Given the description of an element on the screen output the (x, y) to click on. 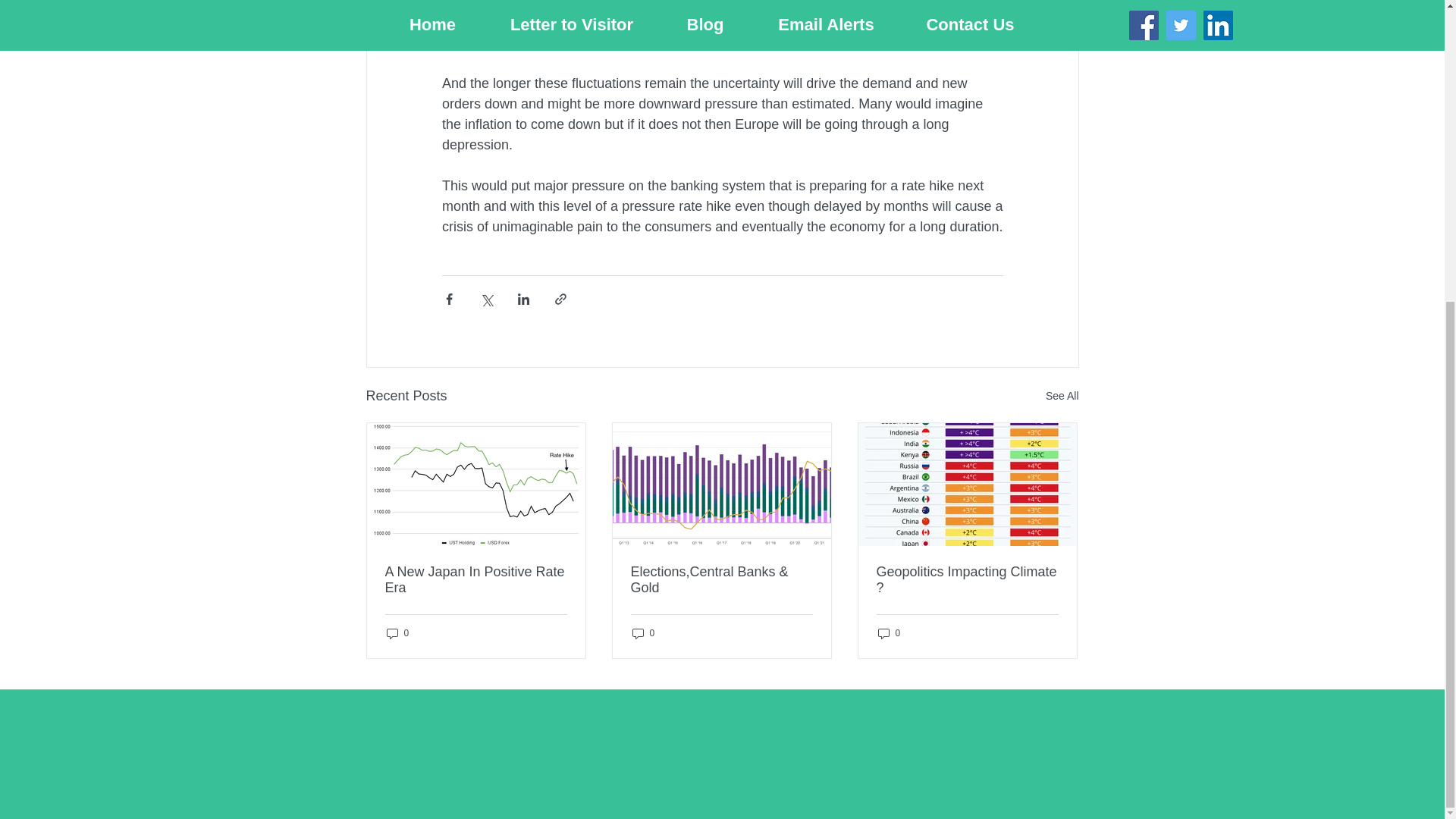
0 (397, 633)
Geopolitics Impacting Climate ? (967, 580)
0 (889, 633)
A New Japan In Positive Rate Era (476, 580)
0 (643, 633)
See All (1061, 395)
